Given the description of an element on the screen output the (x, y) to click on. 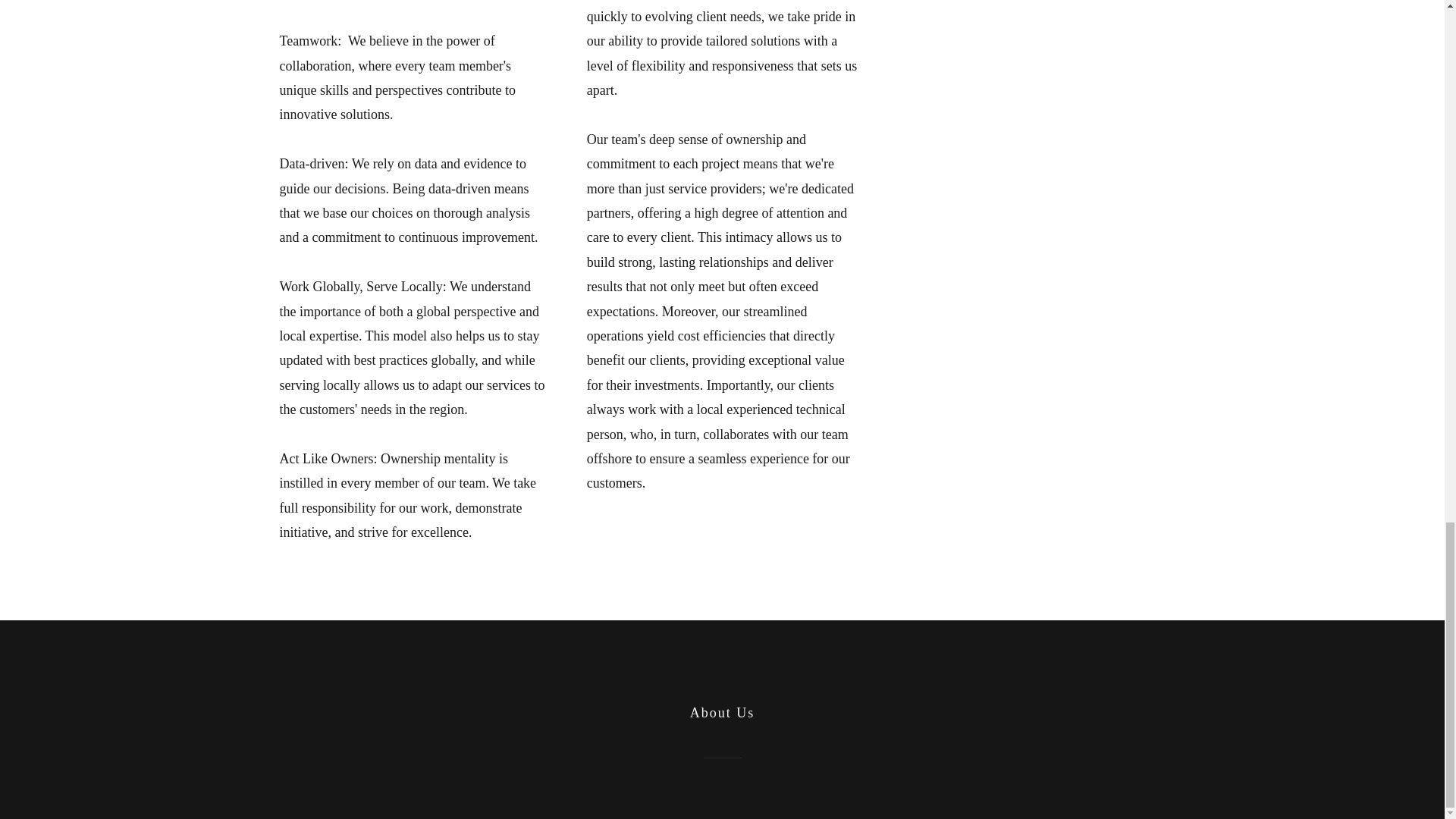
About Us (722, 713)
